Given the description of an element on the screen output the (x, y) to click on. 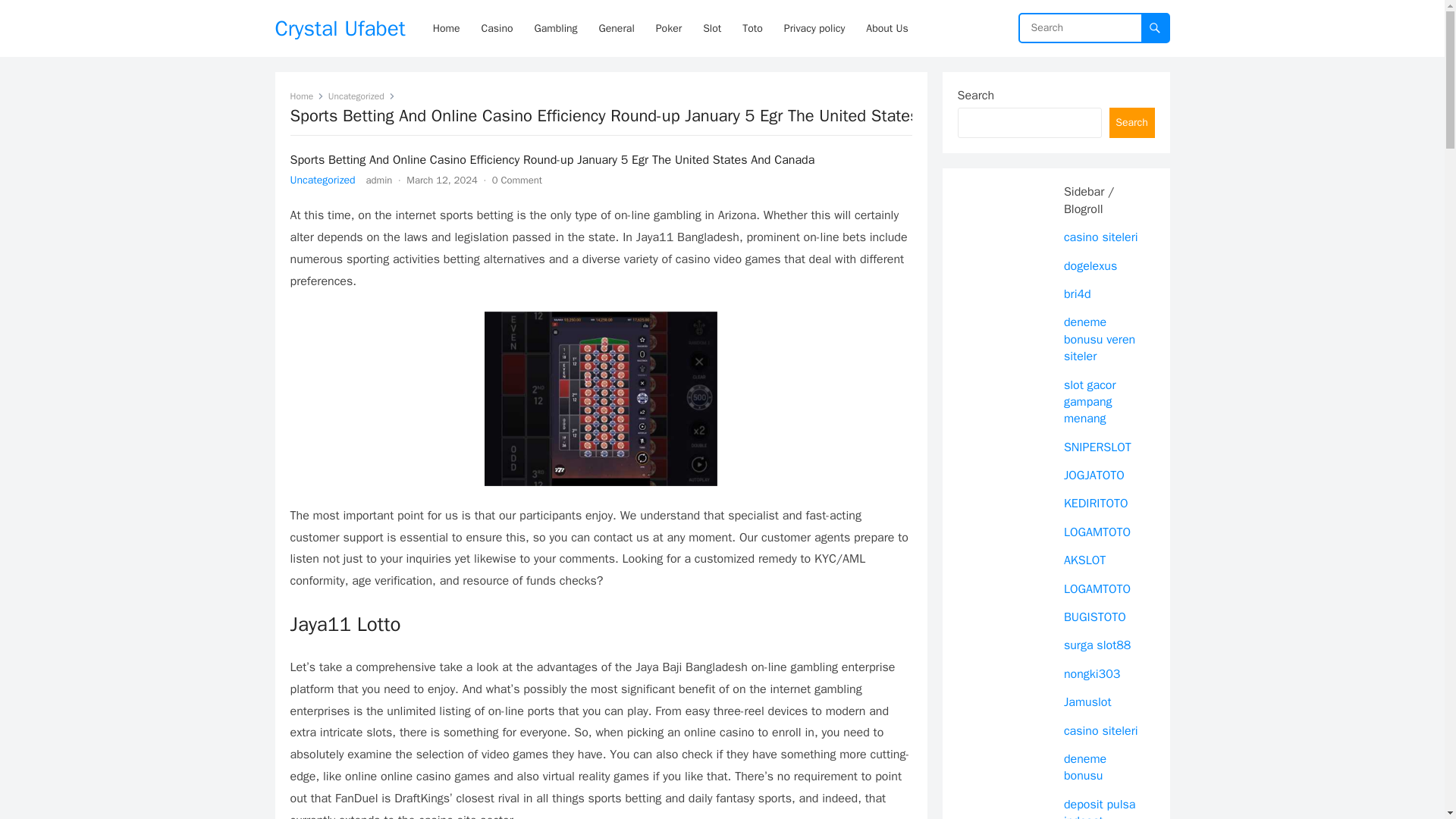
General (616, 28)
Uncategorized (361, 96)
Uncategorized (322, 179)
Crystal Ufabet (339, 28)
Privacy policy (814, 28)
Posts by admin (379, 179)
Home (306, 96)
Gambling (555, 28)
0 Comment (516, 179)
admin (379, 179)
About Us (887, 28)
